Given the description of an element on the screen output the (x, y) to click on. 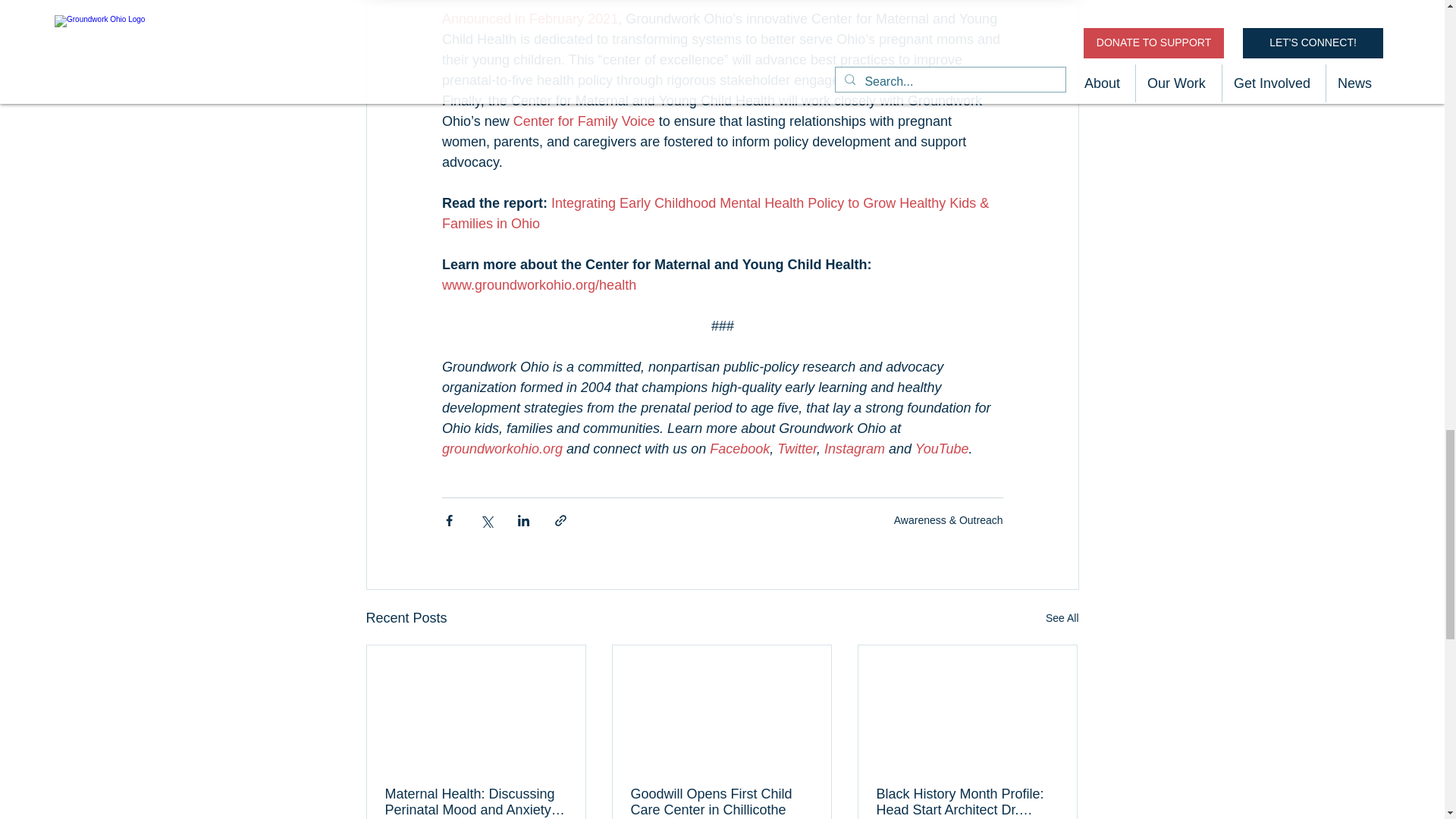
Center for Family Voice (582, 120)
Twitter (796, 448)
Announced in February 2021 (529, 18)
groundworkohio.org (501, 448)
YouTube (941, 448)
Instagram (853, 448)
Facebook (740, 448)
